Given the description of an element on the screen output the (x, y) to click on. 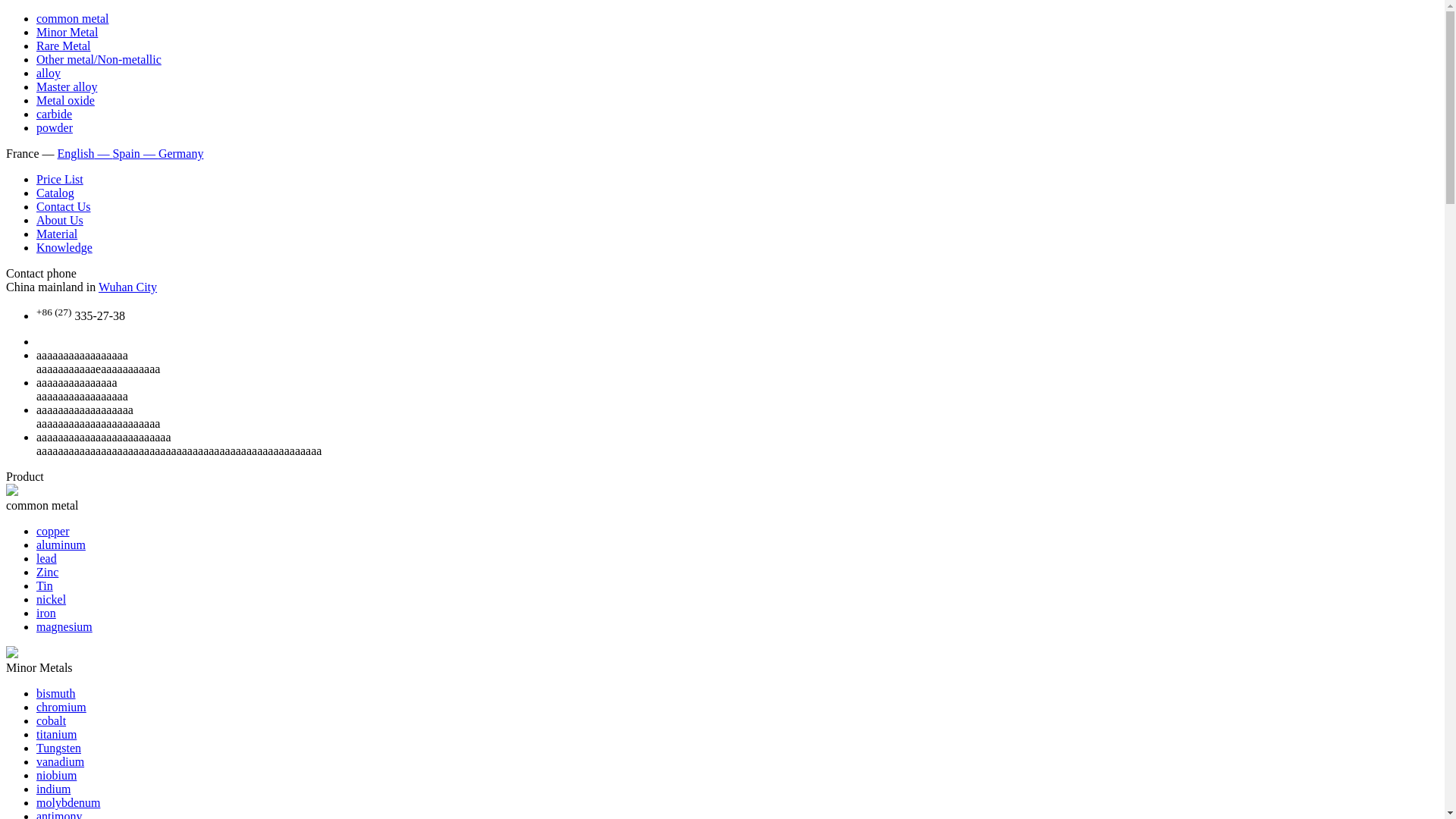
alloy Element type: text (48, 72)
vanadium Element type: text (60, 761)
carbide Element type: text (54, 113)
copper Element type: text (52, 530)
Price List Element type: text (59, 178)
Other metal/Non-metallic Element type: text (98, 59)
iron Element type: text (46, 612)
Knowledge Element type: text (64, 247)
magnesium Element type: text (64, 626)
Zinc Element type: text (47, 571)
Master alloy Element type: text (66, 86)
cobalt Element type: text (50, 720)
Wuhan City Element type: text (127, 286)
aluminum Element type: text (60, 544)
Germany Element type: text (180, 153)
Tungsten Element type: text (58, 747)
chromium Element type: text (61, 706)
Metal oxide Element type: text (65, 100)
molybdenum Element type: text (68, 802)
Catalog Element type: text (55, 192)
Tin Element type: text (44, 585)
niobium Element type: text (56, 774)
Contact Us Element type: text (63, 206)
powder Element type: text (54, 127)
lead Element type: text (46, 558)
titanium Element type: text (56, 734)
common metal Element type: text (72, 18)
About Us Element type: text (59, 219)
Rare Metal Element type: text (63, 45)
bismuth Element type: text (55, 693)
indium Element type: text (53, 788)
nickel Element type: text (50, 599)
Minor Metal Element type: text (66, 31)
Material Element type: text (56, 233)
